Given the description of an element on the screen output the (x, y) to click on. 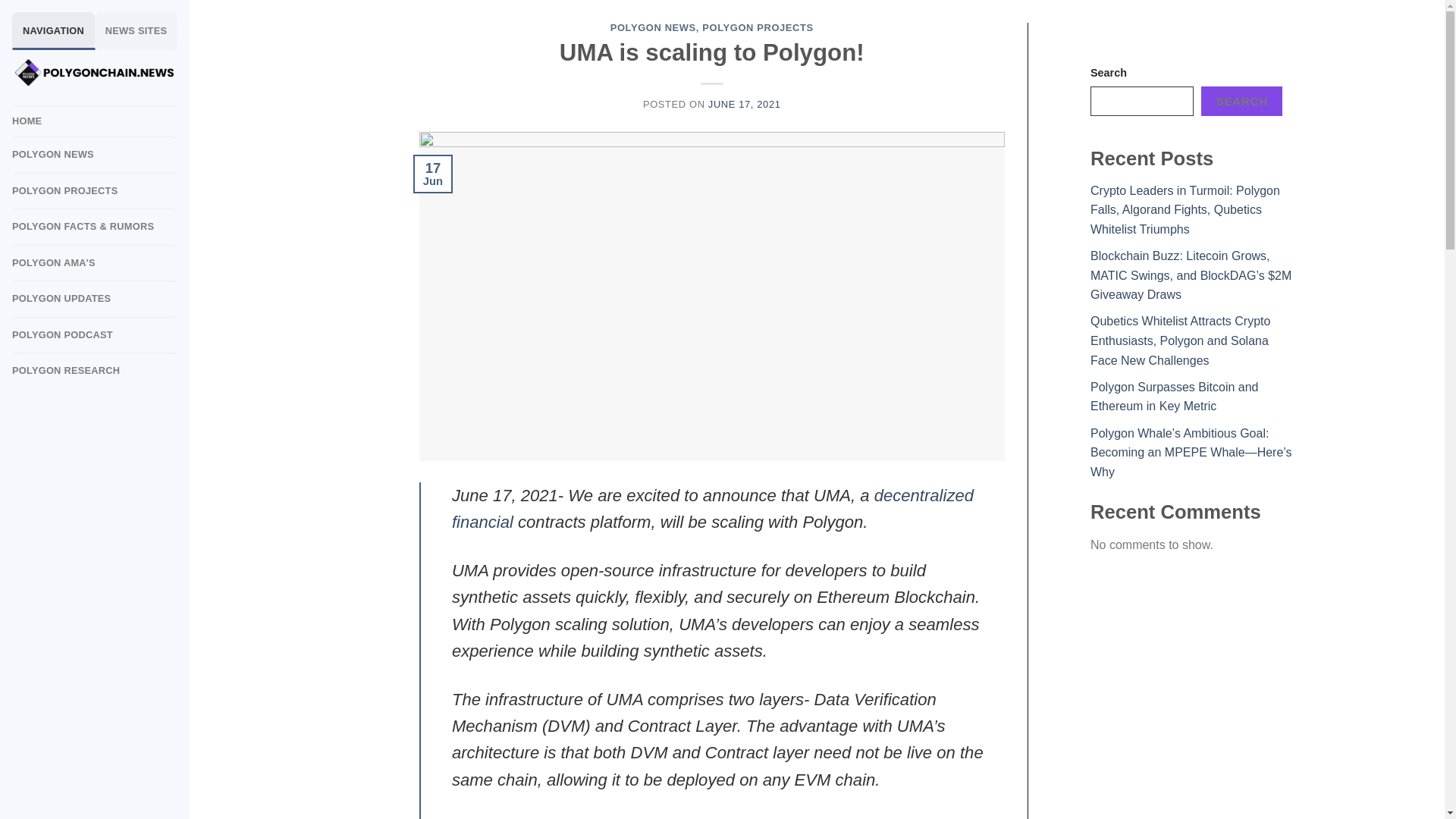
decentralized financial (712, 508)
Polygon Surpasses Bitcoin and Ethereum in Key Metric (1173, 396)
Polygonchain News - Polygon Blockchain News Network (94, 72)
SEARCH (1241, 101)
POLYGON NEWS (652, 27)
JUNE 17, 2021 (743, 103)
POLYGON PROJECTS (756, 27)
